Given the description of an element on the screen output the (x, y) to click on. 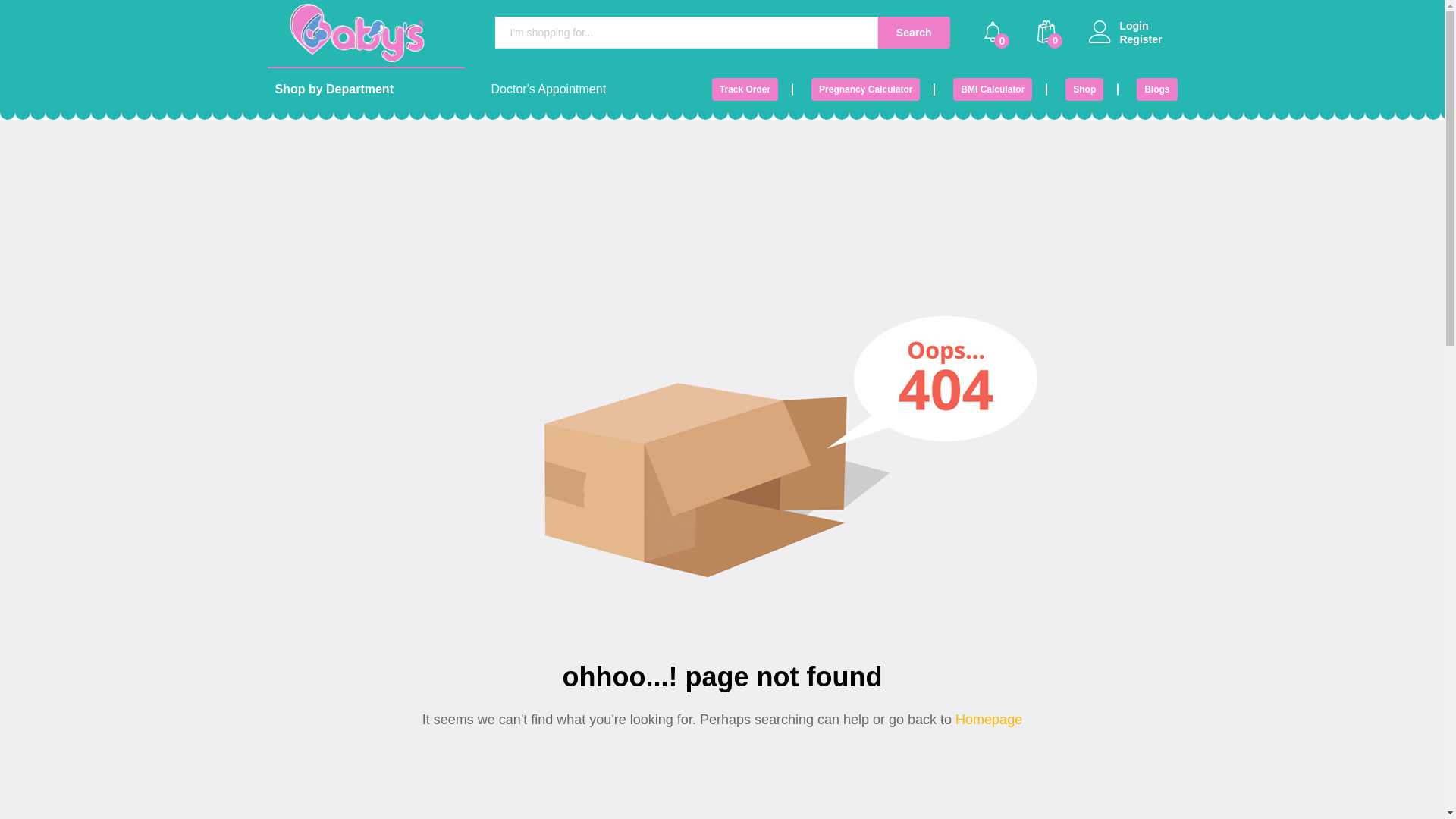
BMI Calculator Element type: text (992, 89)
Pregnancy Calculator Element type: text (865, 89)
Homepage Element type: text (986, 719)
Register Element type: text (1140, 39)
Shop Element type: text (1084, 89)
Search Element type: text (914, 32)
Login Element type: text (1140, 25)
Blogs Element type: text (1156, 89)
0 Element type: text (1046, 32)
Doctor's Appointment Element type: text (558, 89)
0 Element type: text (993, 32)
Track Order Element type: text (745, 89)
